Given the description of an element on the screen output the (x, y) to click on. 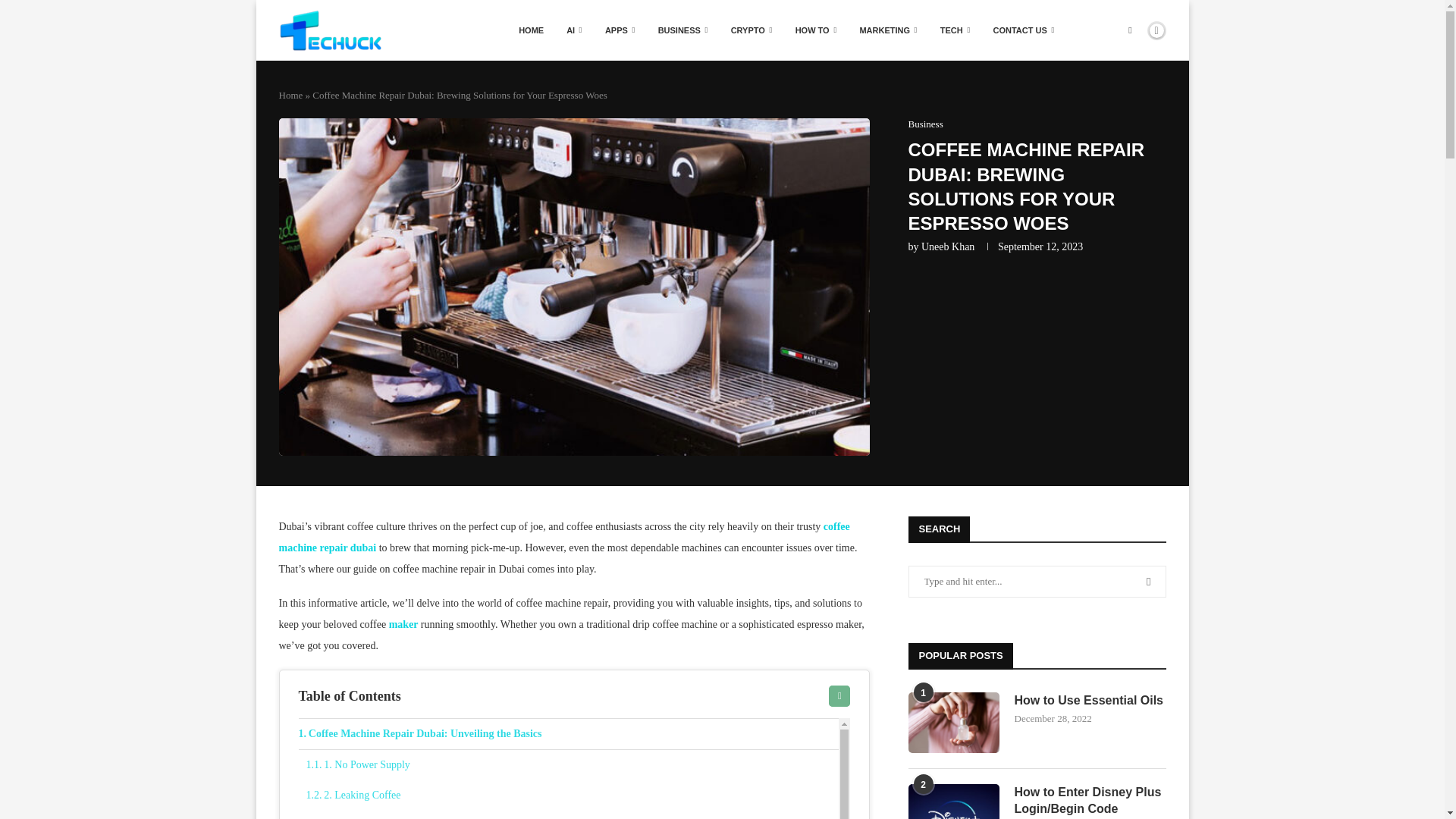
2. Leaking Coffee (572, 795)
Coffee Machine Repair Dubai: Unveiling the Basics (569, 734)
2. Leaking Coffee (572, 795)
MARKETING (887, 30)
1. No Power Supply (572, 765)
Uneeb Khan (947, 246)
3. Inconsistent Temperature (572, 814)
coffee machine repair dubai (564, 536)
BUSINESS (682, 30)
CONTACT US (1023, 30)
CRYPTO (751, 30)
Coffee Machine Repair Dubai: Unveiling the Basics (569, 734)
Business (925, 123)
HOW TO (816, 30)
1. No Power Supply (572, 765)
